Given the description of an element on the screen output the (x, y) to click on. 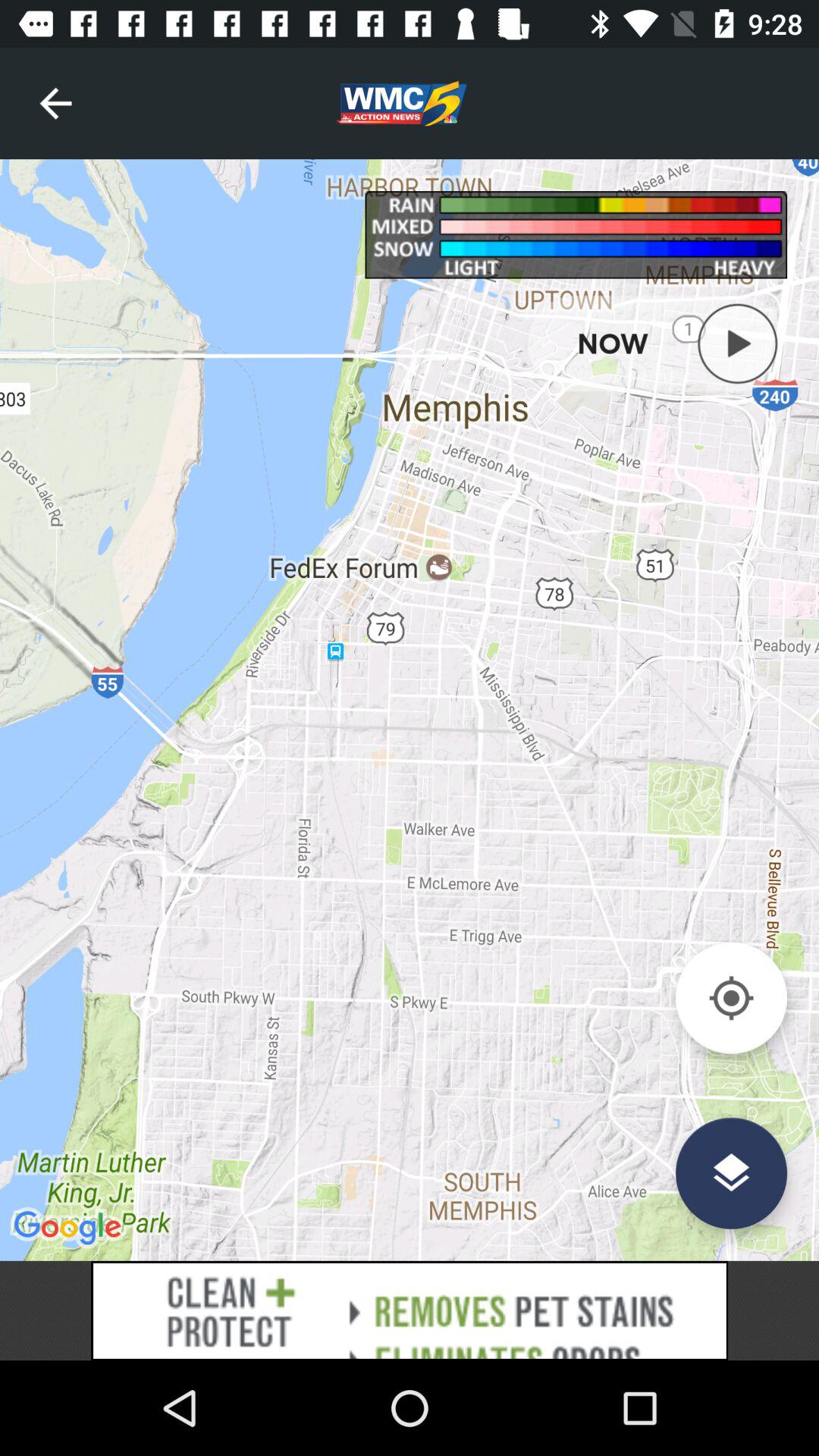
go to point (731, 997)
